Given the description of an element on the screen output the (x, y) to click on. 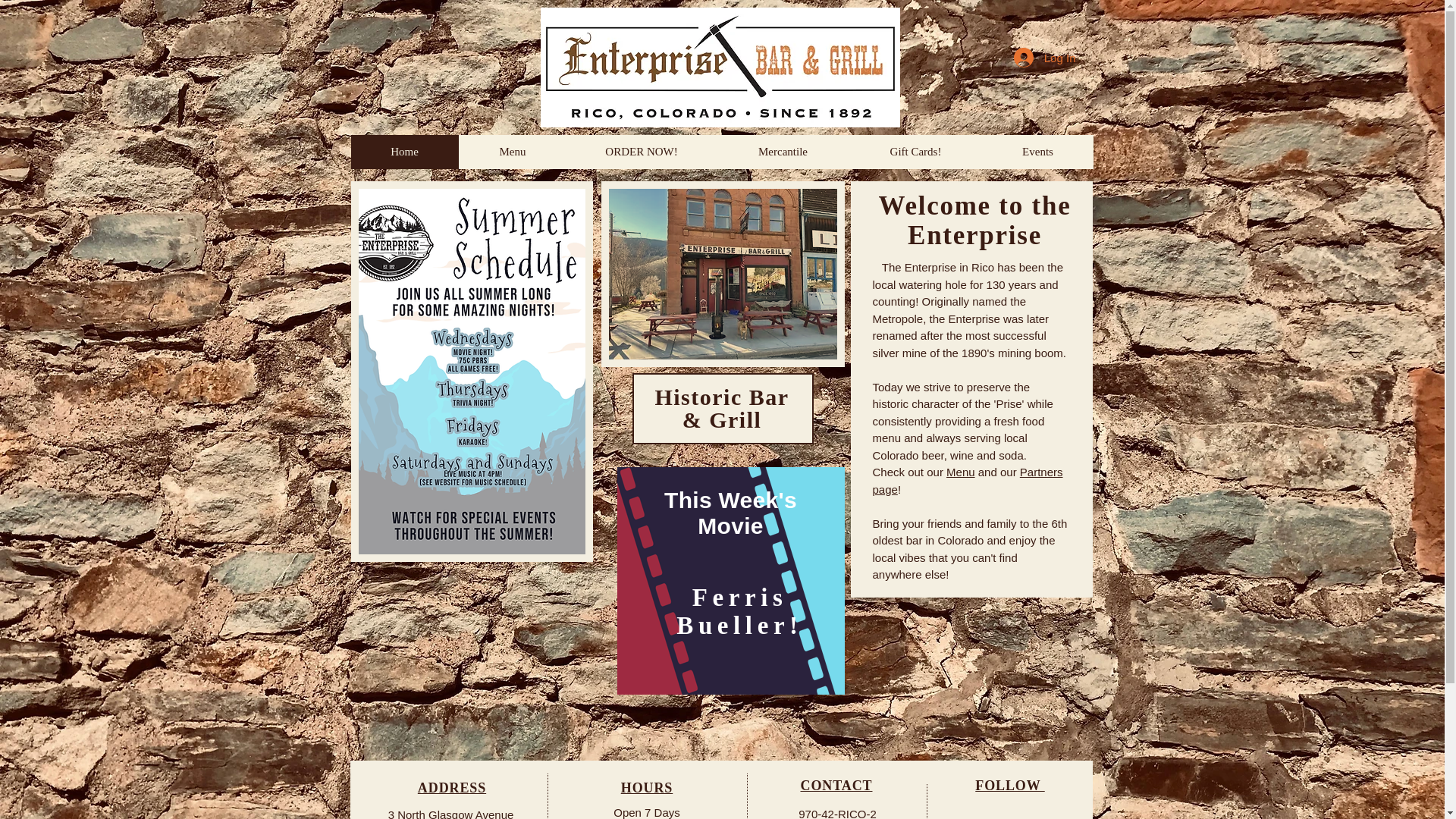
Partners page (967, 481)
Gift Cards! (914, 151)
Menu (960, 472)
Events (1037, 151)
Mercantile (782, 151)
Log In (1044, 57)
CONTACT (836, 785)
Menu (512, 151)
ORDER NOW! (641, 151)
WebBackgroundMovie.png (730, 580)
Home (404, 151)
